Given the description of an element on the screen output the (x, y) to click on. 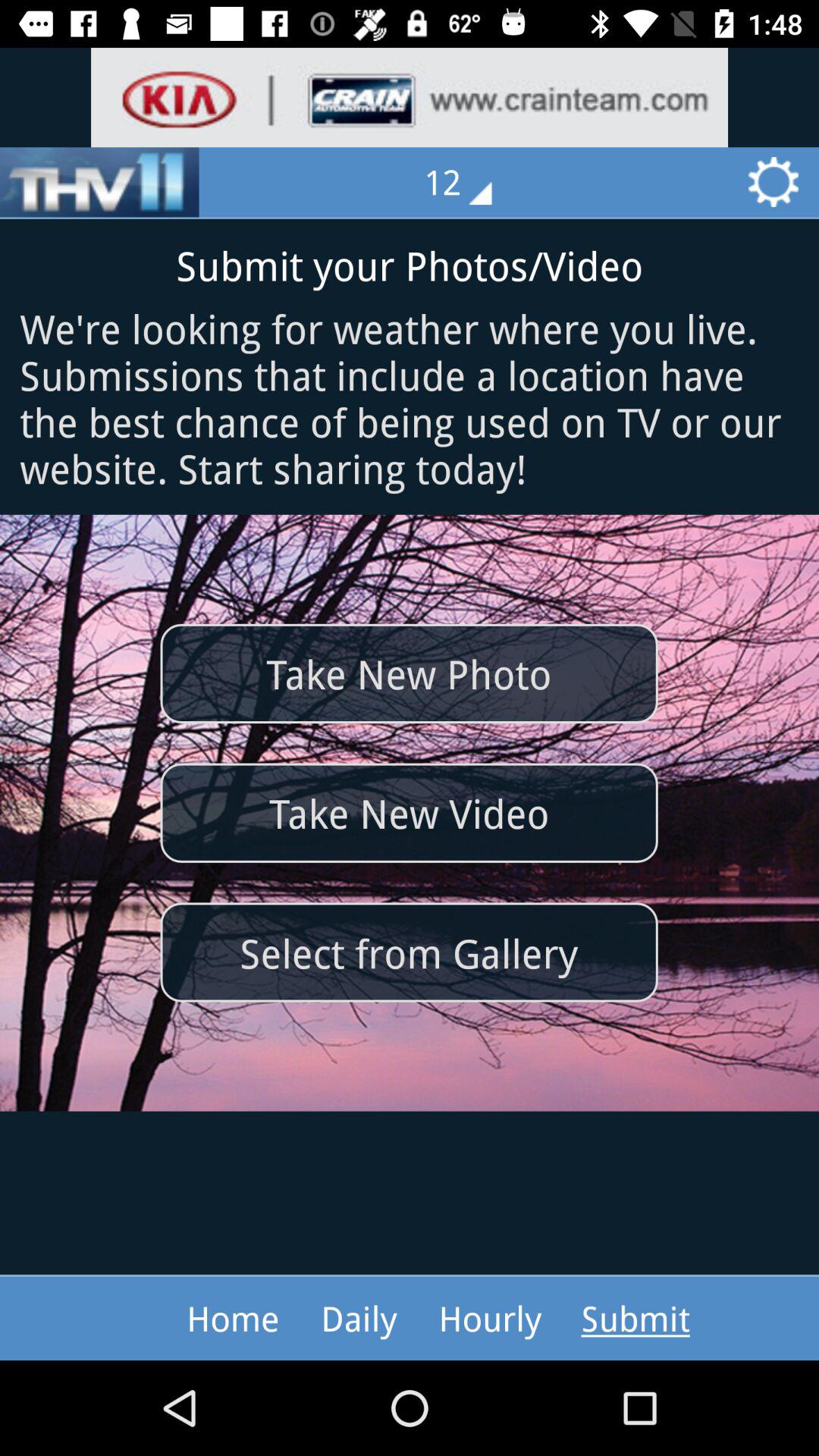
launch the icon to the left of 12 (99, 182)
